Given the description of an element on the screen output the (x, y) to click on. 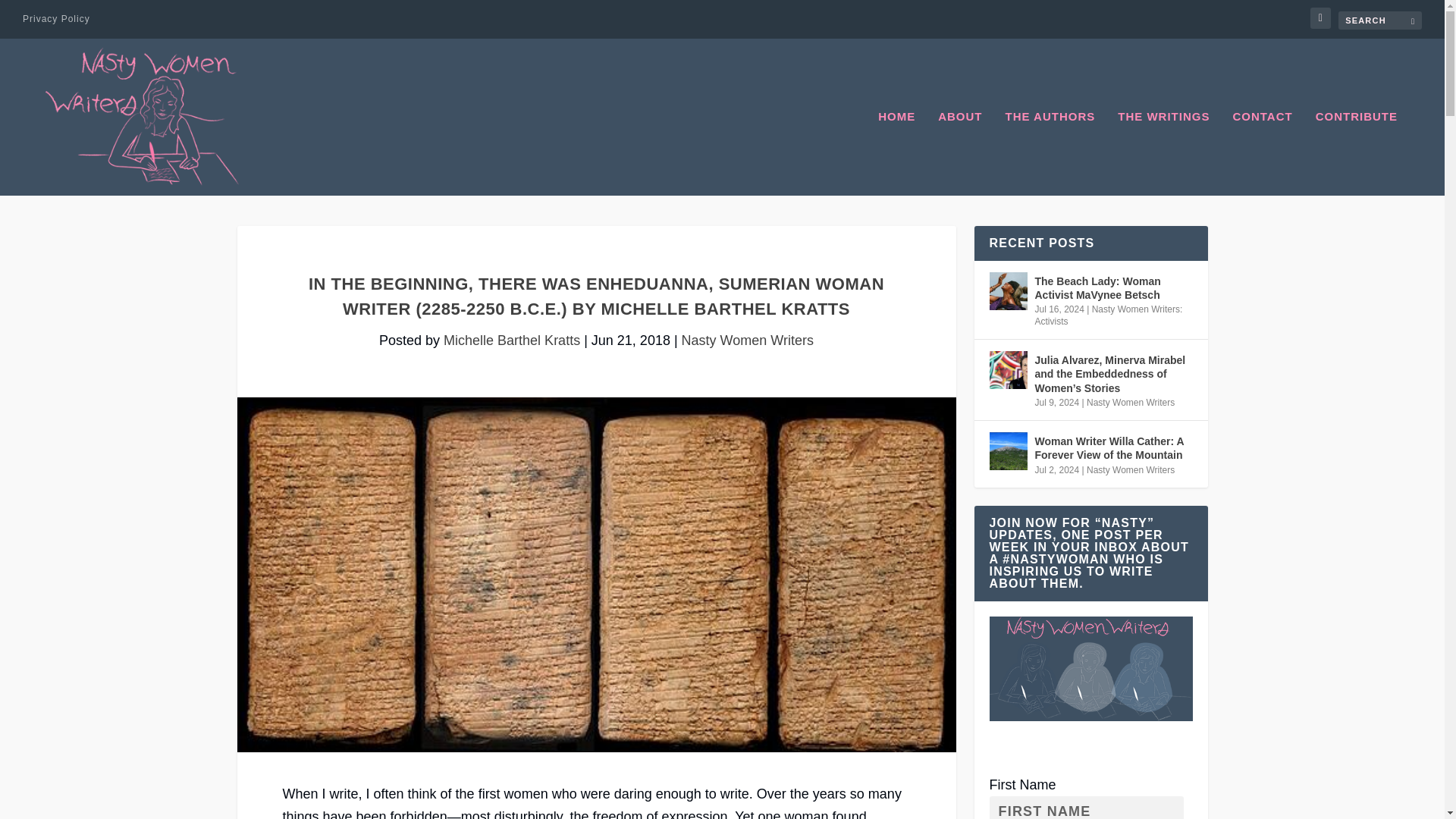
Nasty Women Writers (747, 340)
Michelle Barthel Kratts (511, 340)
Posts by Michelle Barthel Kratts (511, 340)
THE WRITINGS (1163, 152)
Privacy Policy (56, 18)
THE AUTHORS (1051, 152)
CONTRIBUTE (1356, 152)
Search for: (1380, 20)
